Given the description of an element on the screen output the (x, y) to click on. 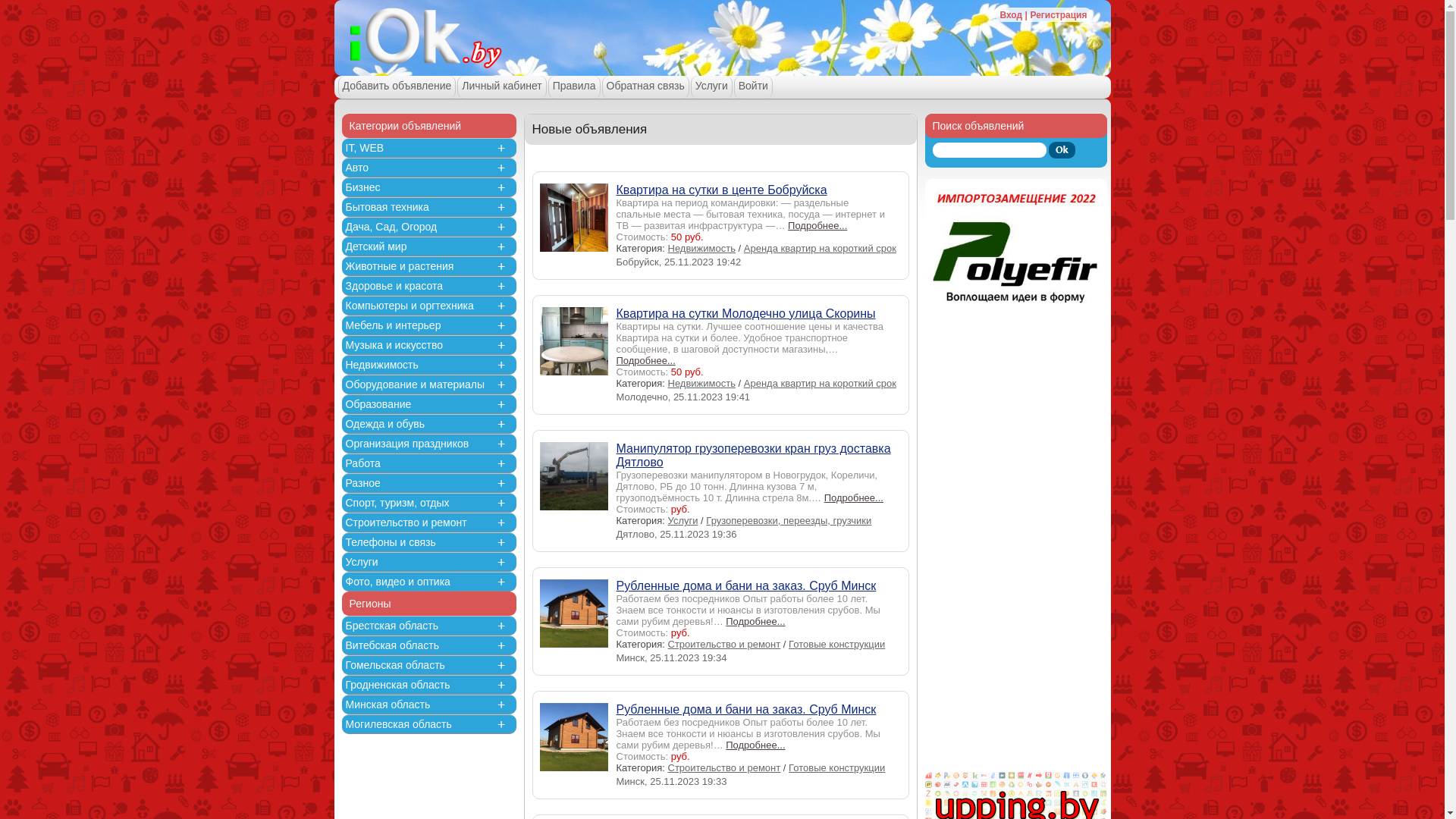
Advertisement Element type: hover (1016, 543)
  Element type: text (1037, 28)
IT, WEB Element type: text (364, 147)
